Given the description of an element on the screen output the (x, y) to click on. 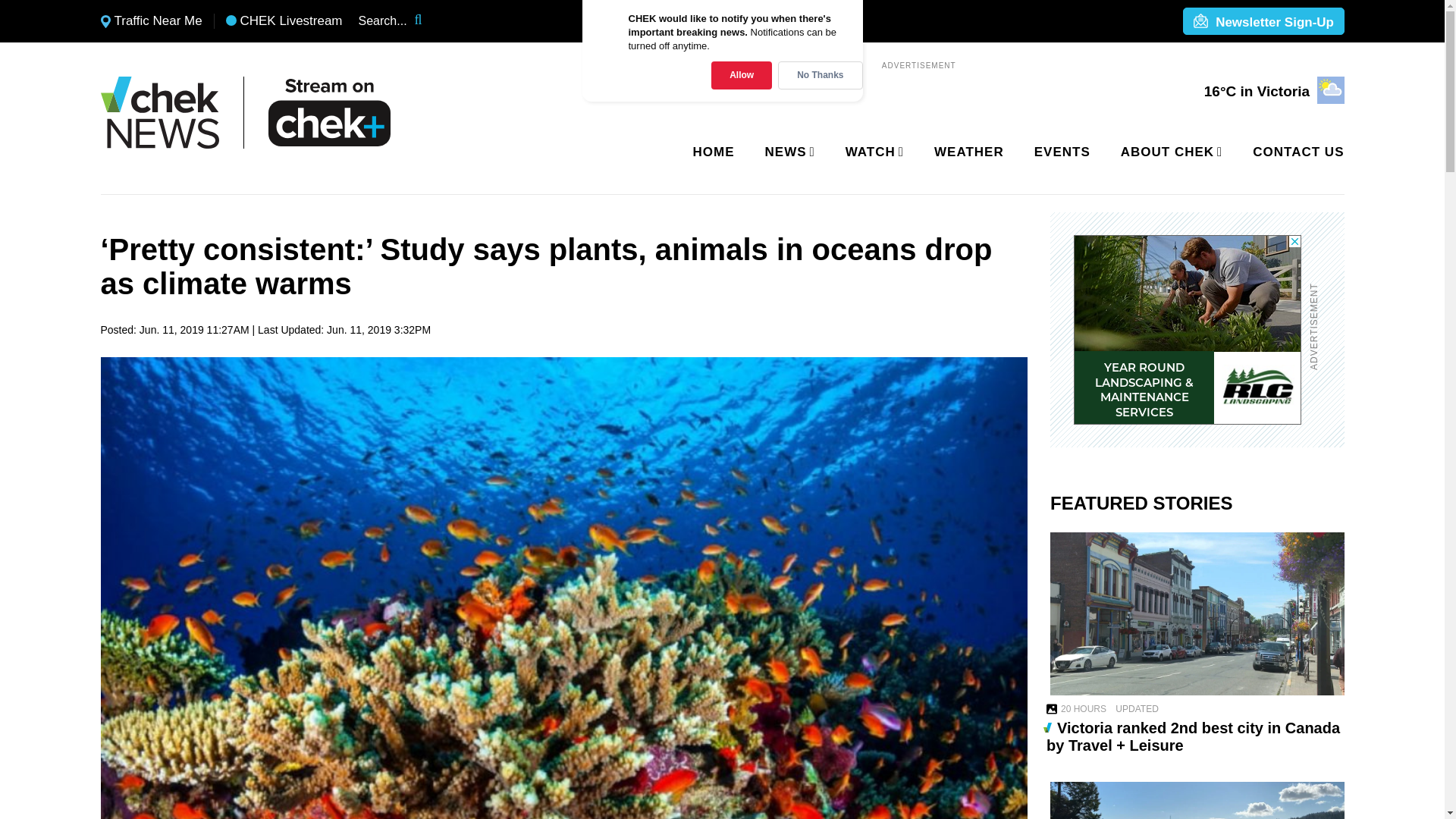
Newsletter Sign-Up (1262, 22)
HOME (714, 152)
Traffic Near Me (151, 20)
3rd party ad content (1187, 330)
CHEK Livestream (283, 20)
Search (428, 21)
NEWS (787, 152)
